Given the description of an element on the screen output the (x, y) to click on. 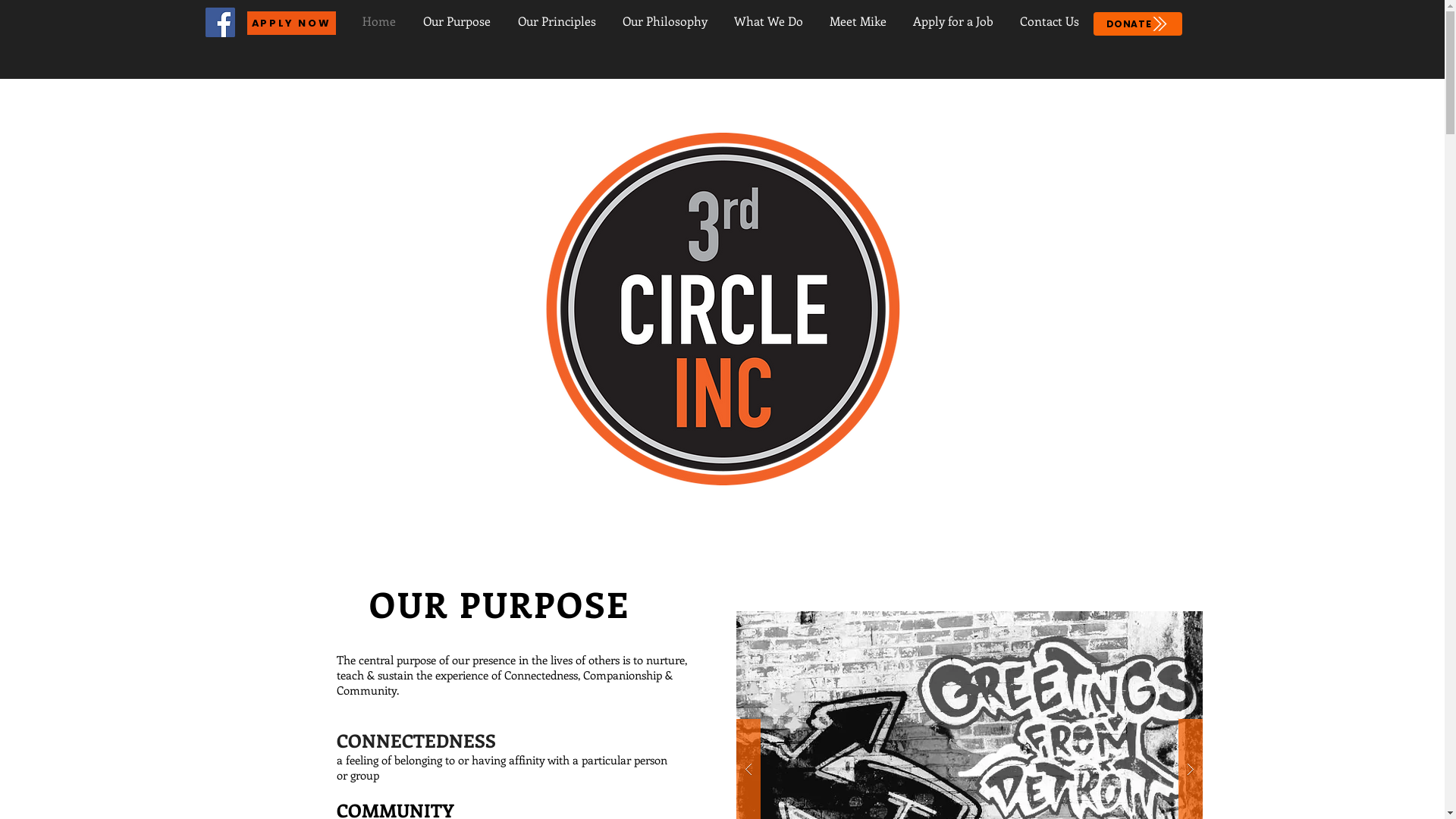
Meet Mike Element type: text (858, 20)
What We Do Element type: text (769, 20)
Our Philosophy Element type: text (666, 20)
DONATE Element type: text (1137, 23)
Contact Us Element type: text (1051, 20)
Our Purpose Element type: text (458, 20)
Our Principles Element type: text (558, 20)
Home Element type: text (380, 20)
APPLY NOW Element type: text (291, 22)
Apply for a Job Element type: text (953, 20)
